Given the description of an element on the screen output the (x, y) to click on. 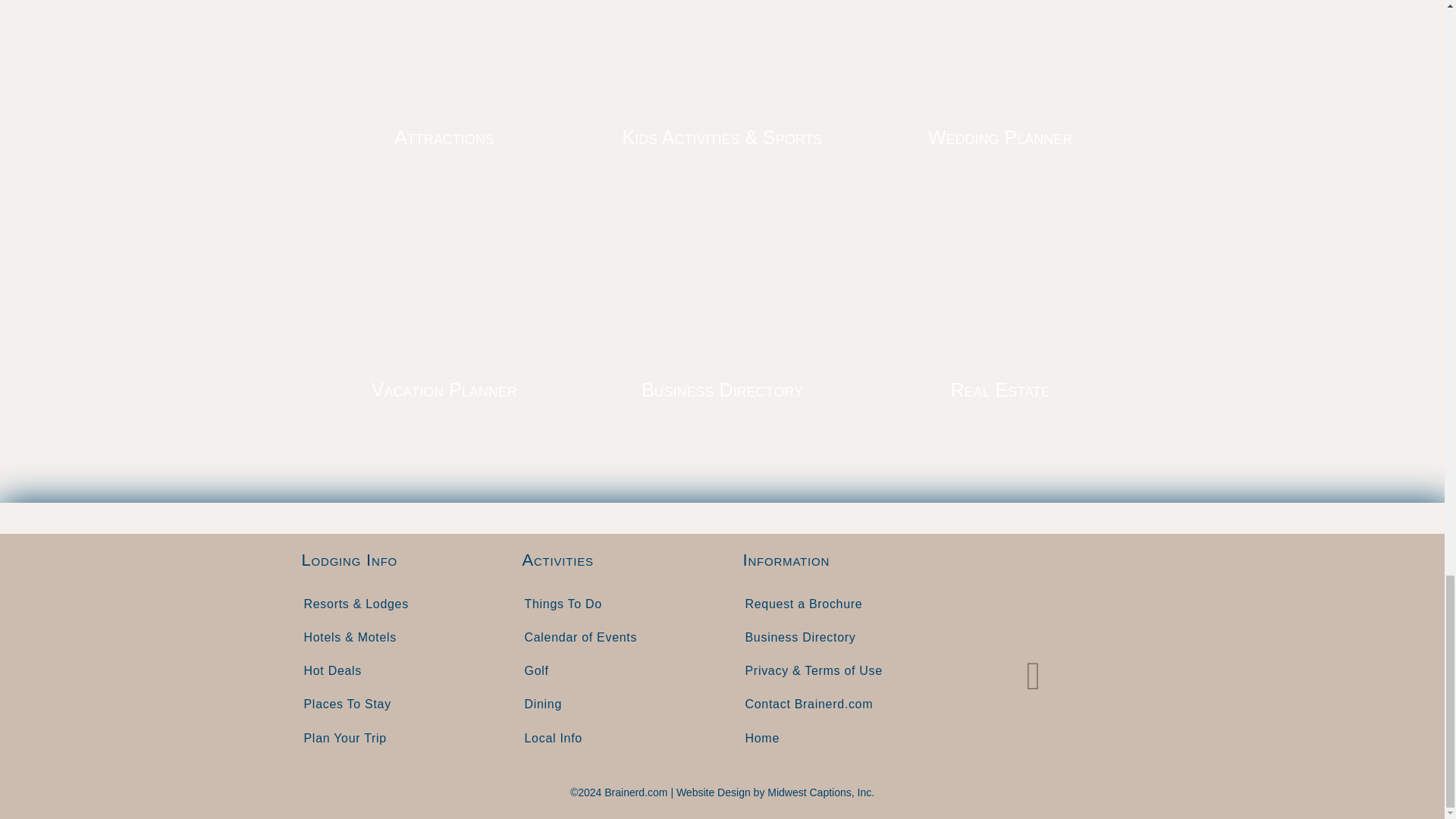
home-weddings (1000, 61)
home-attractions (443, 61)
home-kids (721, 61)
